Given the description of an element on the screen output the (x, y) to click on. 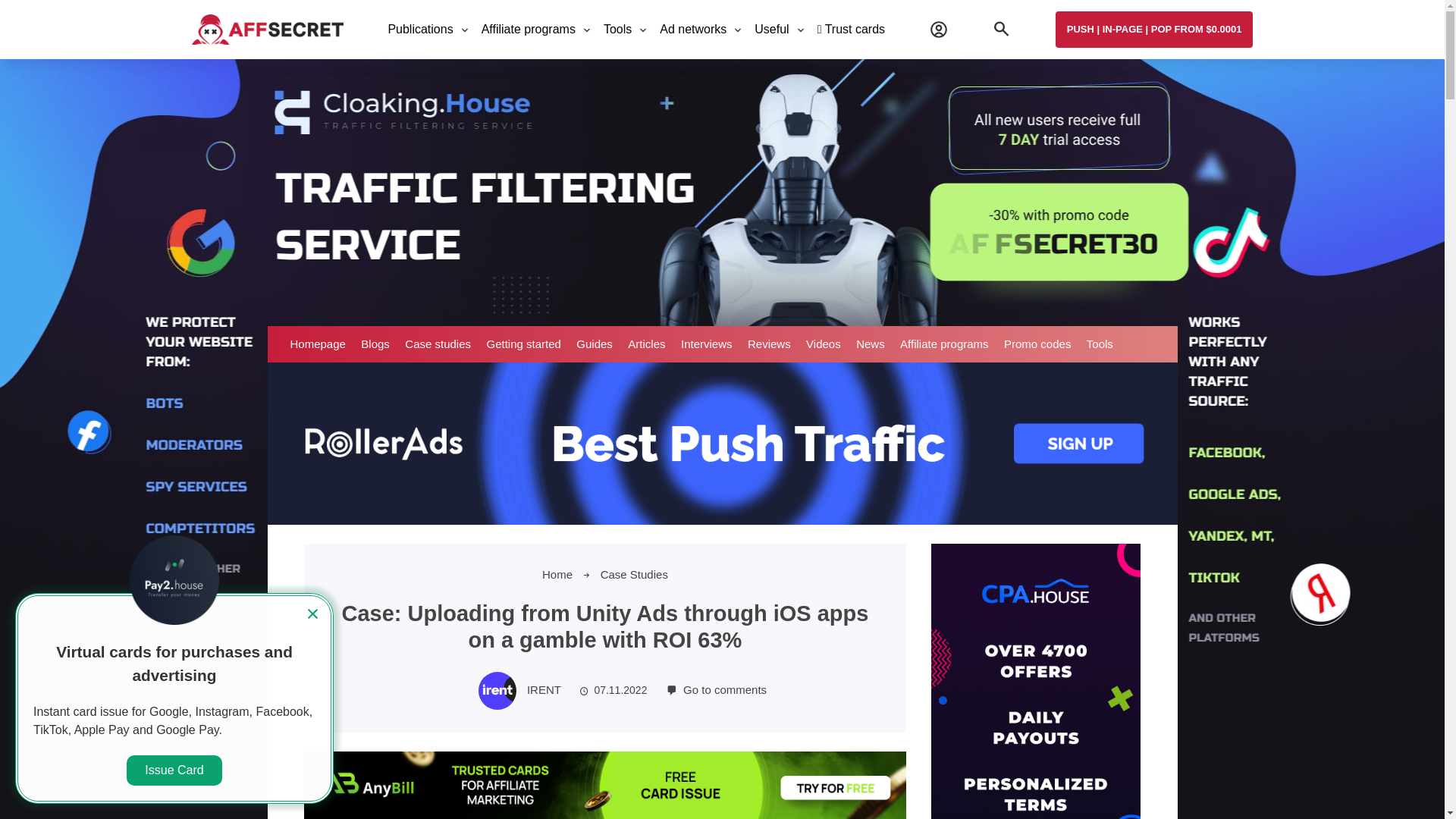
Ad networks (692, 30)
Publications (419, 30)
Useful (771, 30)
Tools (617, 30)
Affiliate programs (528, 30)
